Given the description of an element on the screen output the (x, y) to click on. 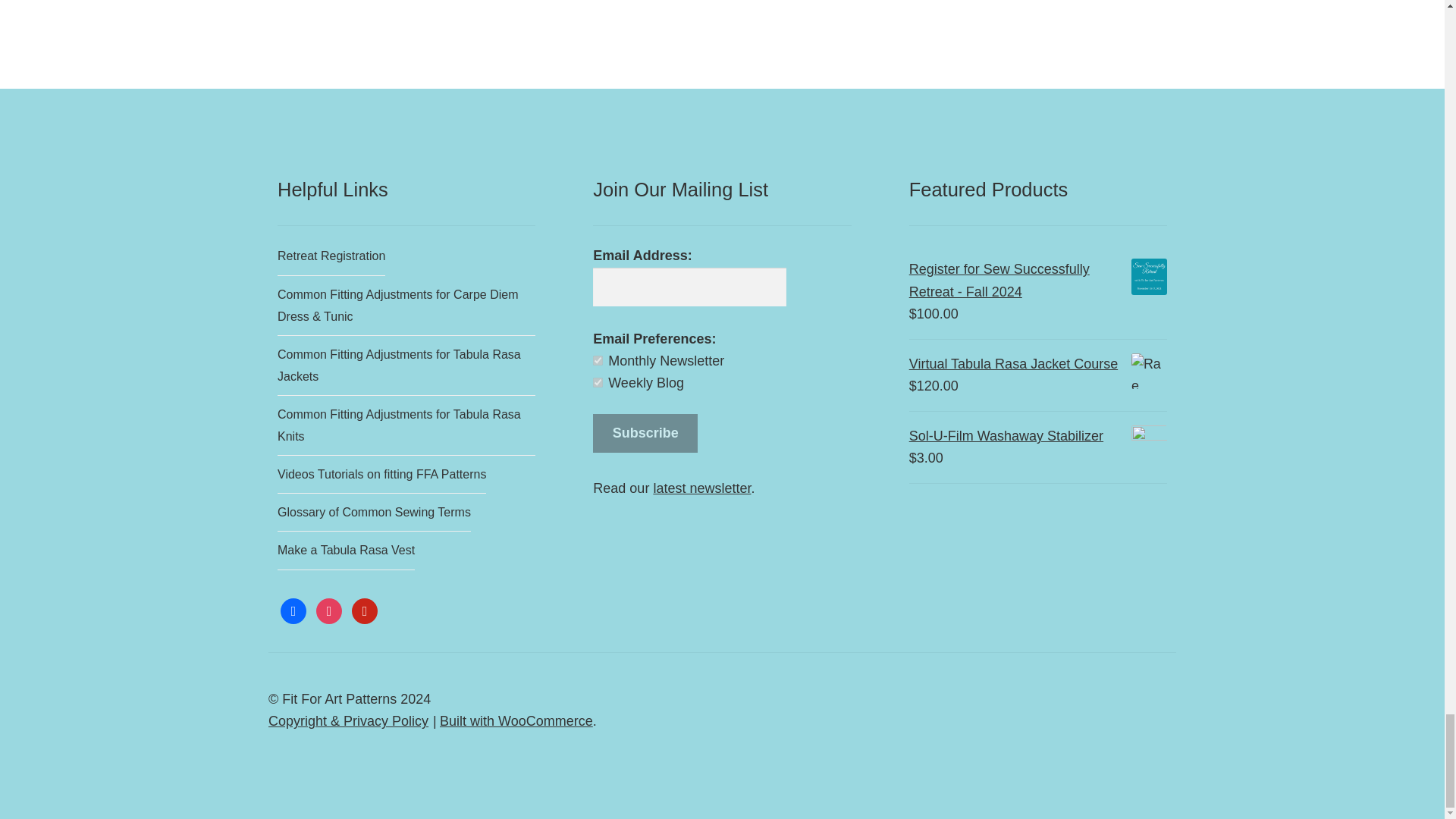
WooCommerce - The Best eCommerce Platform for WordPress (515, 720)
Facebook (293, 610)
2 (597, 382)
Subscribe (644, 433)
Instagram (328, 610)
1 (597, 360)
